Given the description of an element on the screen output the (x, y) to click on. 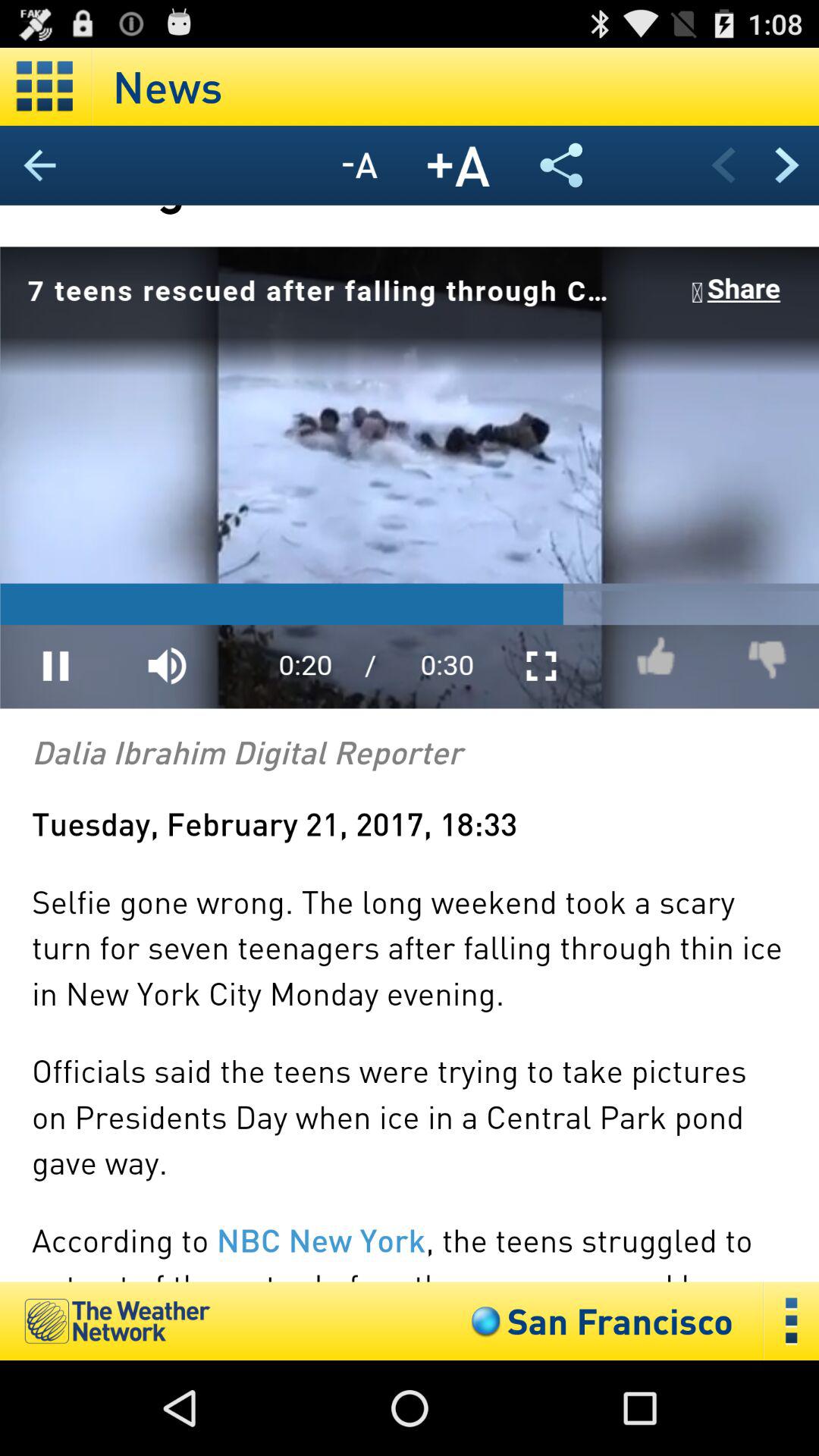
go back (45, 165)
